Given the description of an element on the screen output the (x, y) to click on. 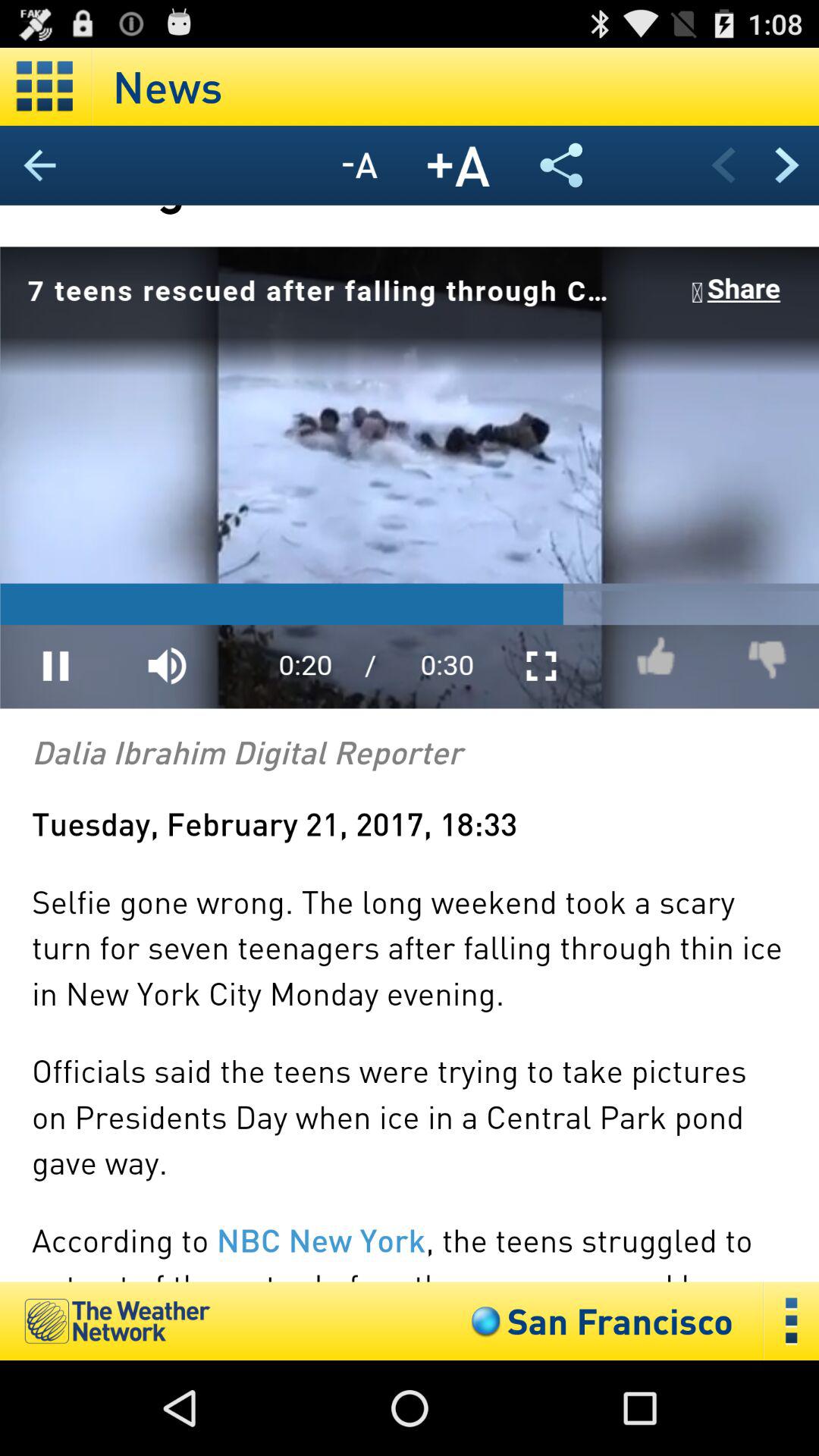
go back (45, 165)
